Given the description of an element on the screen output the (x, y) to click on. 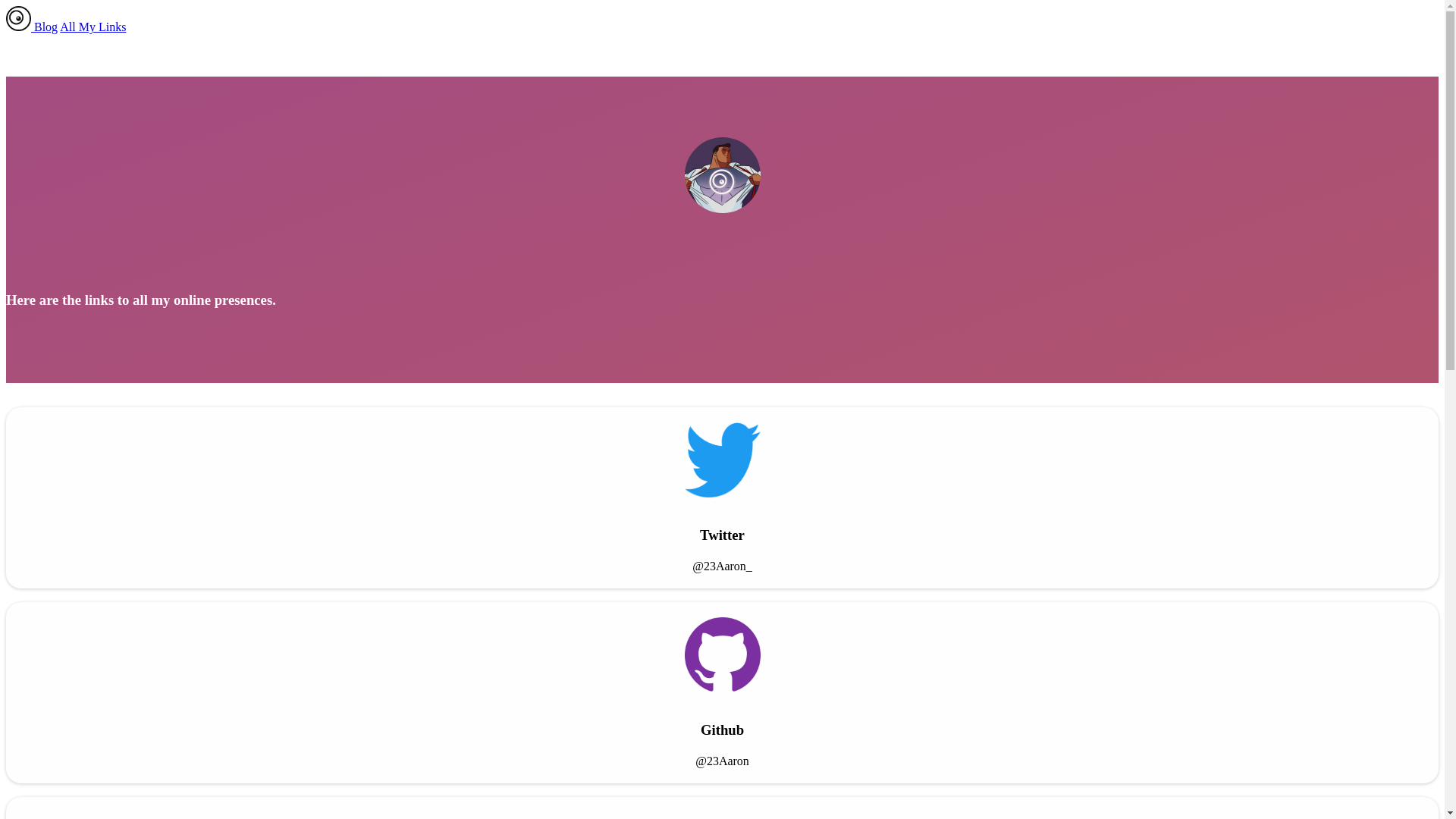
All My Links Element type: text (92, 26)
Github
@23Aaron Element type: text (722, 692)
Twitter
@23Aaron_ Element type: text (722, 497)
Blog Element type: text (45, 26)
